Given the description of an element on the screen output the (x, y) to click on. 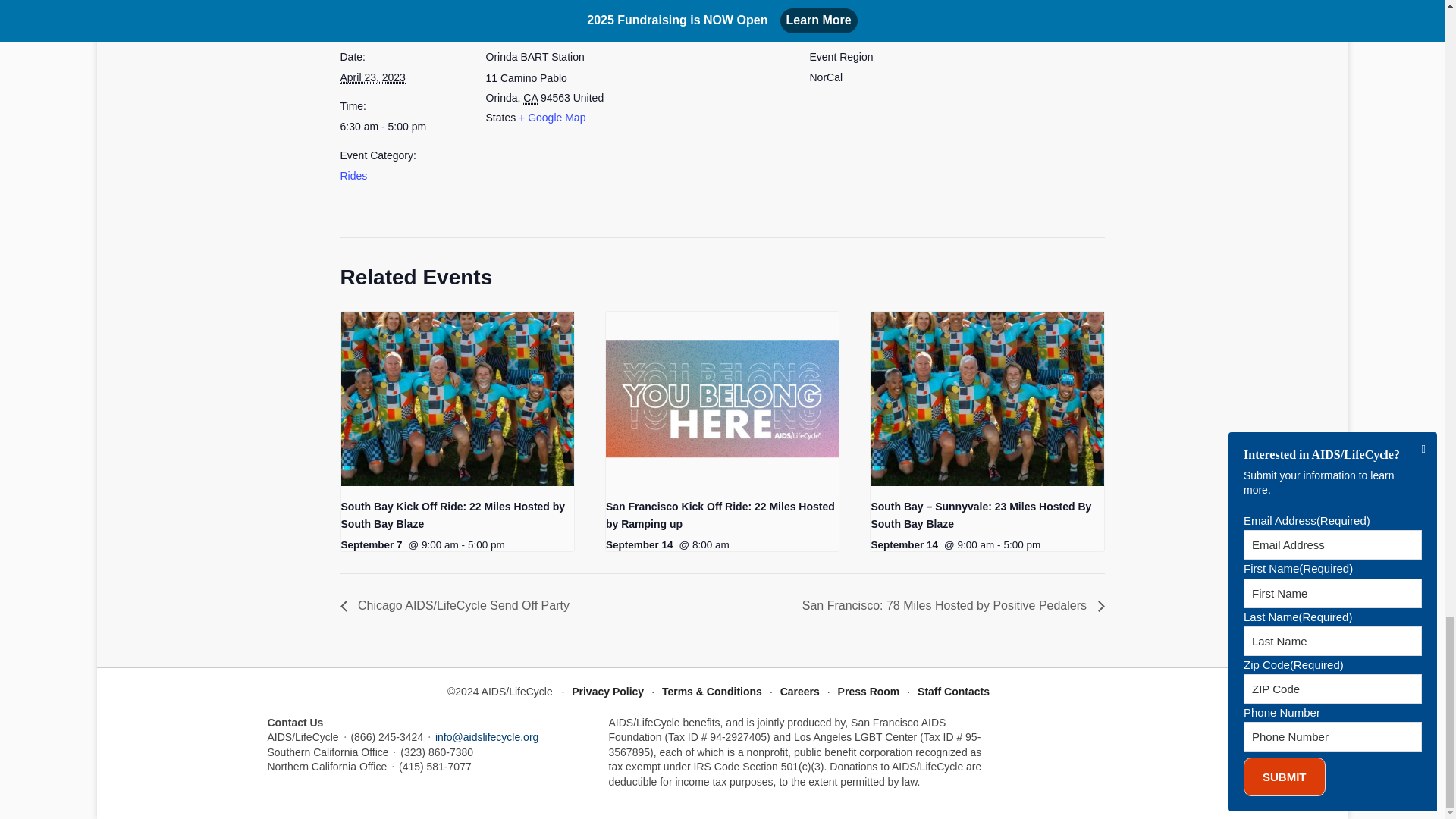
California (529, 97)
Click to view a Google Map (551, 117)
2023-04-23 (403, 126)
2023-04-23 (371, 77)
